Given the description of an element on the screen output the (x, y) to click on. 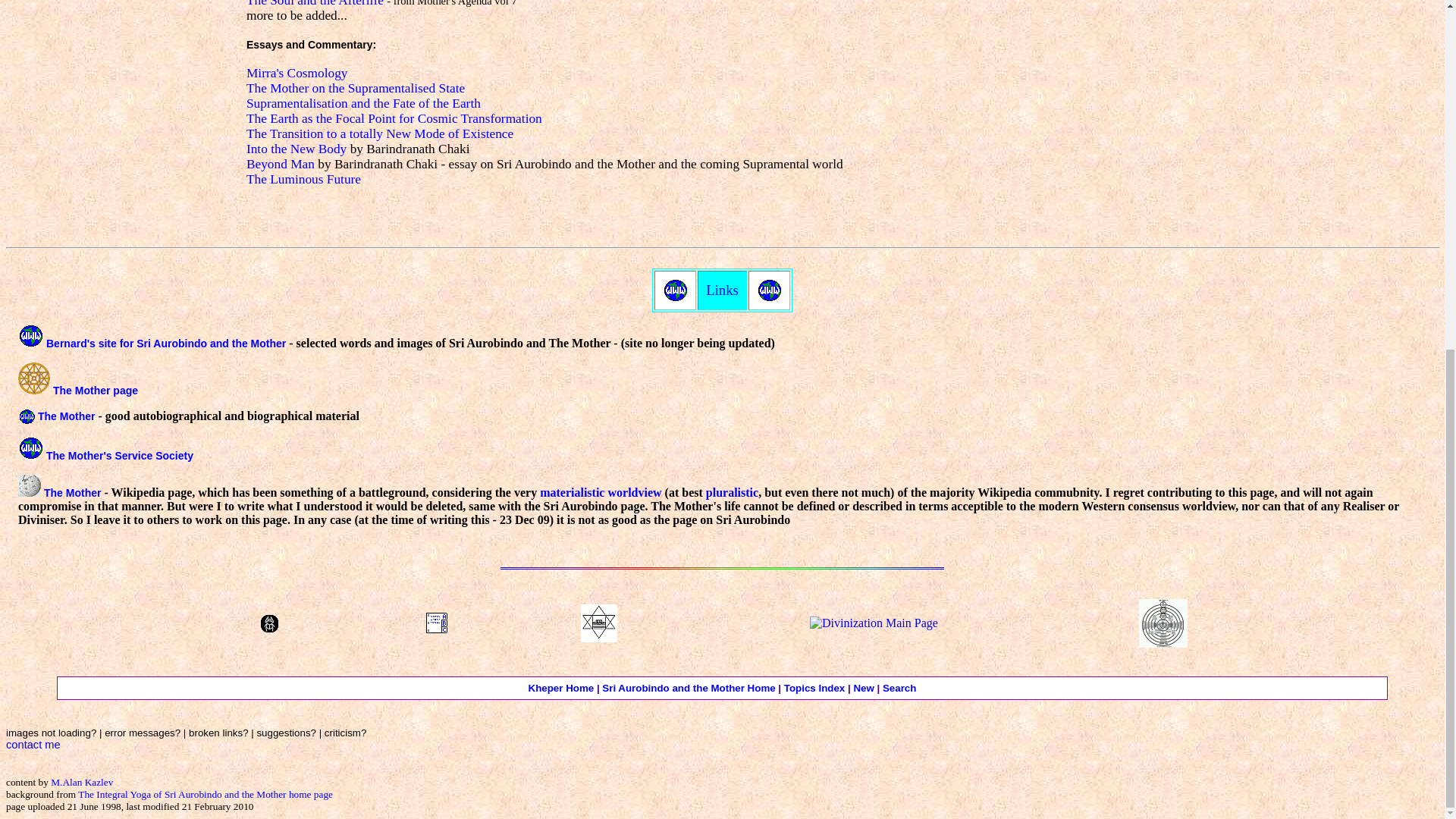
The Mother page (95, 390)
Bernard's site for Sri Aurobindo and the Mother (165, 343)
Mirra's Cosmology (296, 73)
The Earth as the Focal Point for Cosmic Transformation (393, 118)
Supramentalisation and the Fate of the Earth (363, 103)
pluralistic (732, 492)
The Mother's Service Society (119, 455)
The Luminous Future (303, 178)
The Mother on the Supramentalised State (355, 88)
The Transition to a totally New Mode of Existence (379, 133)
